Given the description of an element on the screen output the (x, y) to click on. 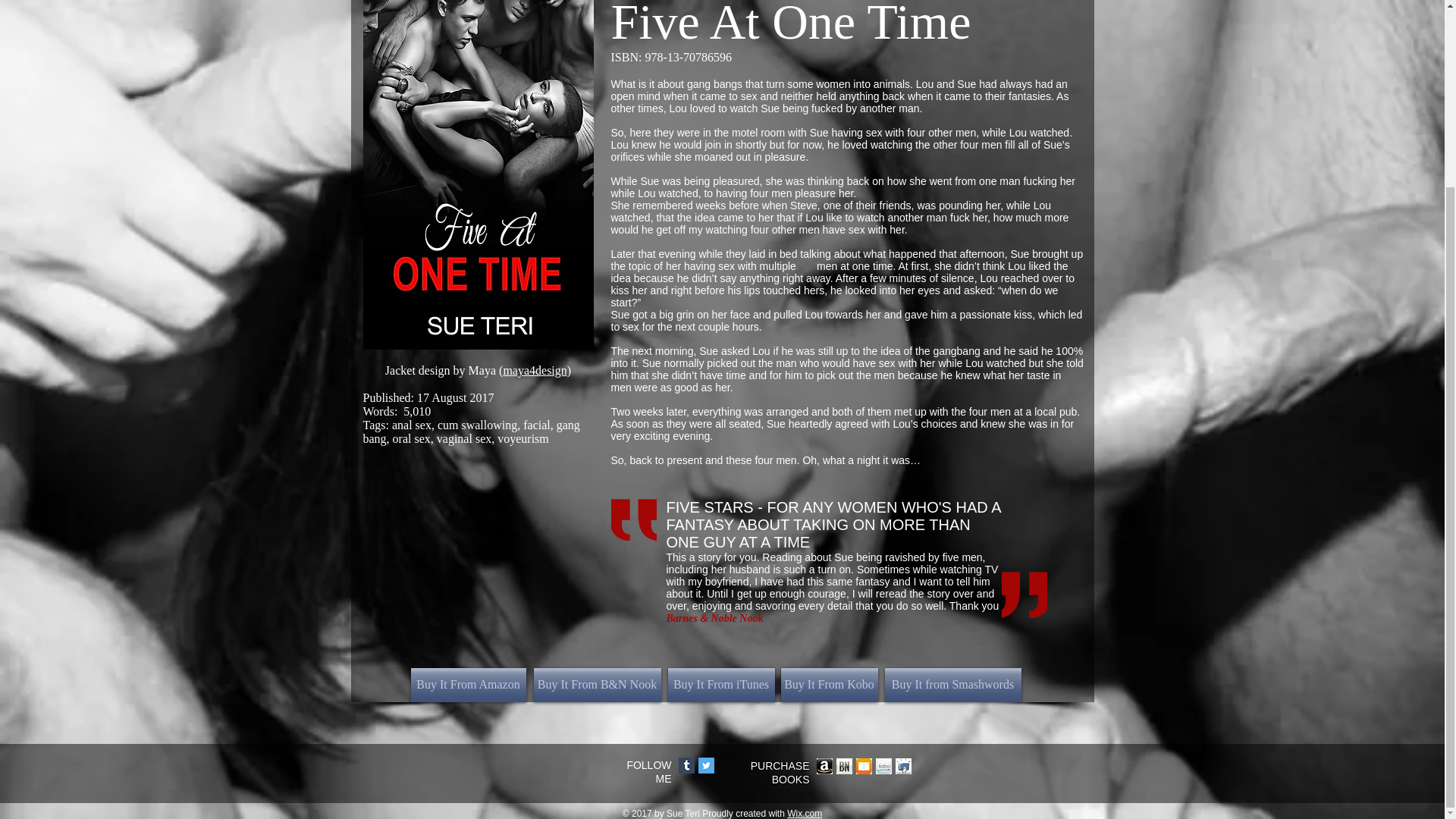
maya4design (534, 369)
Buy It From Kobo (828, 684)
Buy It From iTunes (720, 684)
Buy It From Amazon (467, 684)
Buy It from Smashwords (951, 684)
